Given the description of an element on the screen output the (x, y) to click on. 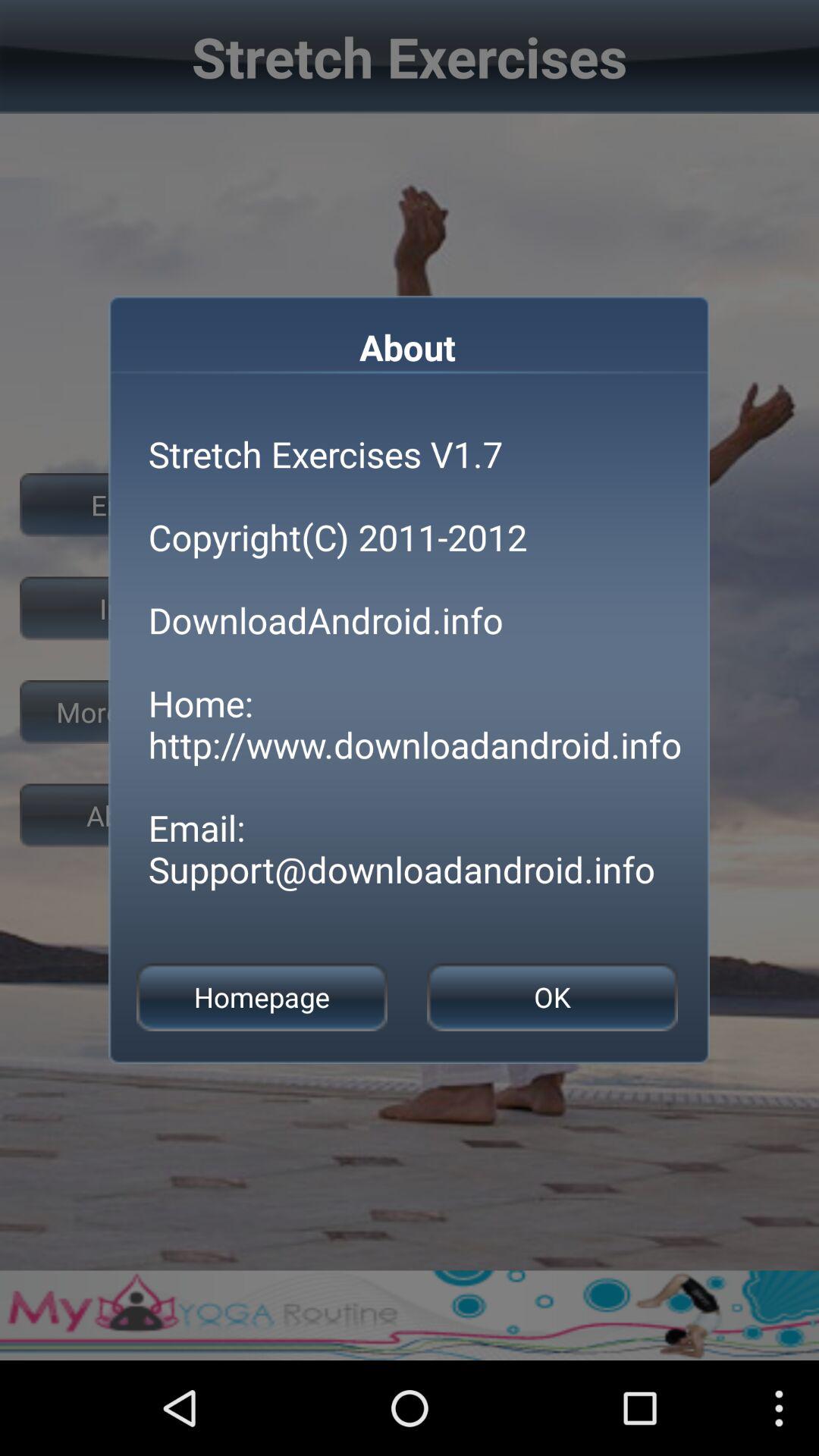
launch icon at the bottom right corner (552, 997)
